Given the description of an element on the screen output the (x, y) to click on. 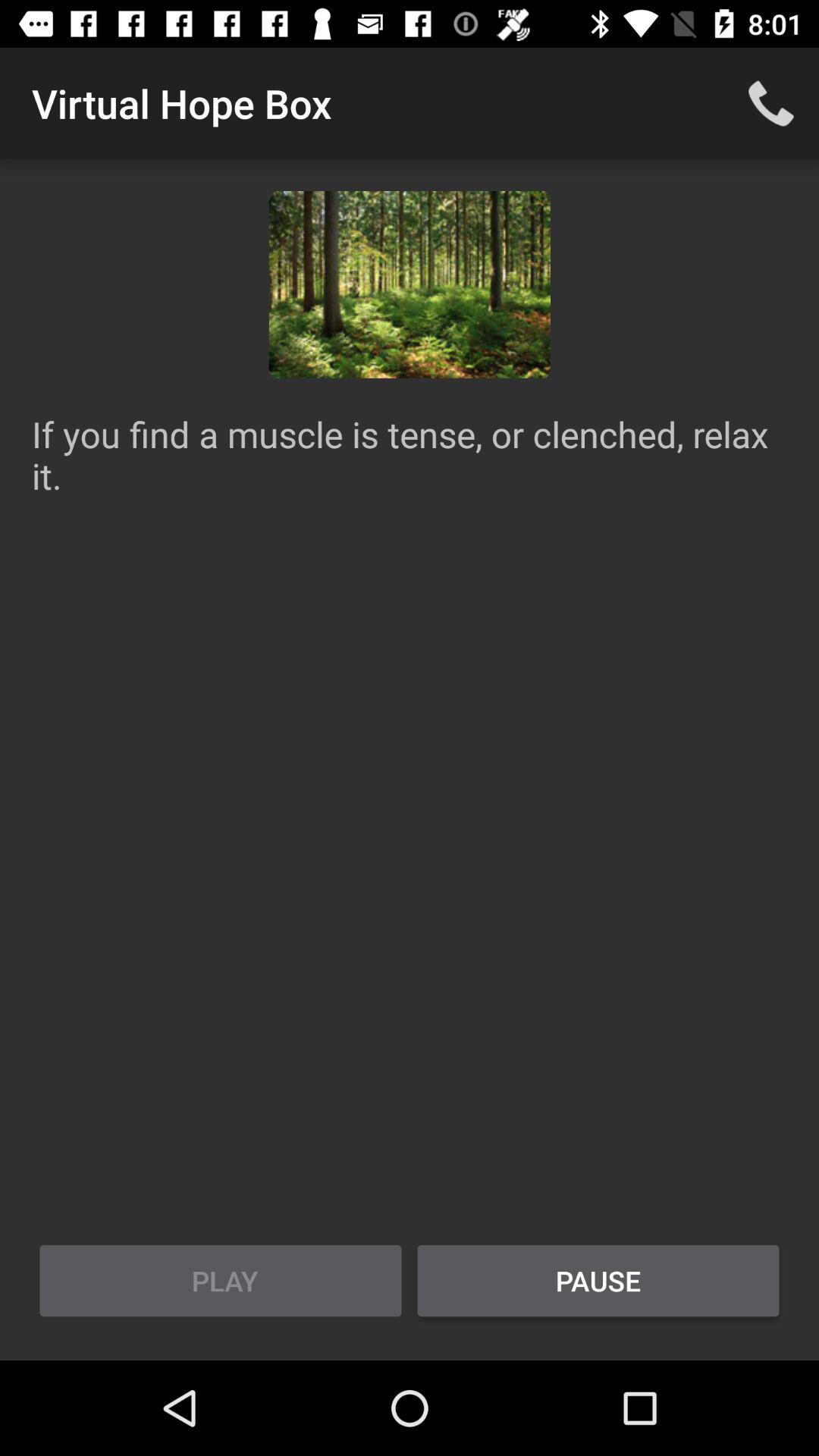
launch the play (220, 1280)
